Given the description of an element on the screen output the (x, y) to click on. 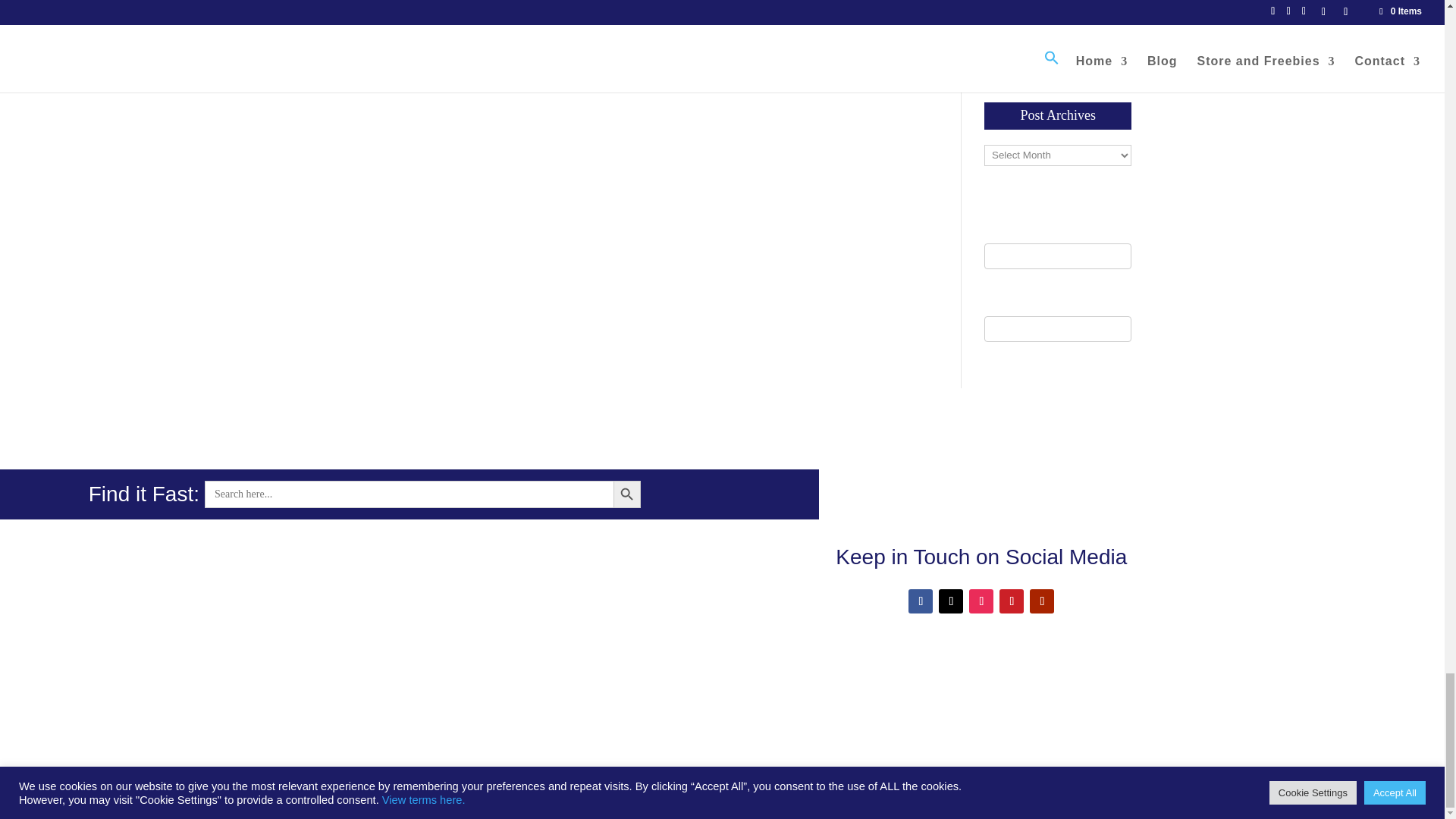
Follow on Facebook (920, 600)
Follow on Instagram (980, 600)
Follow on Pinterest (1010, 600)
Follow on X (950, 600)
Follow on Youtube (1041, 600)
